Given the description of an element on the screen output the (x, y) to click on. 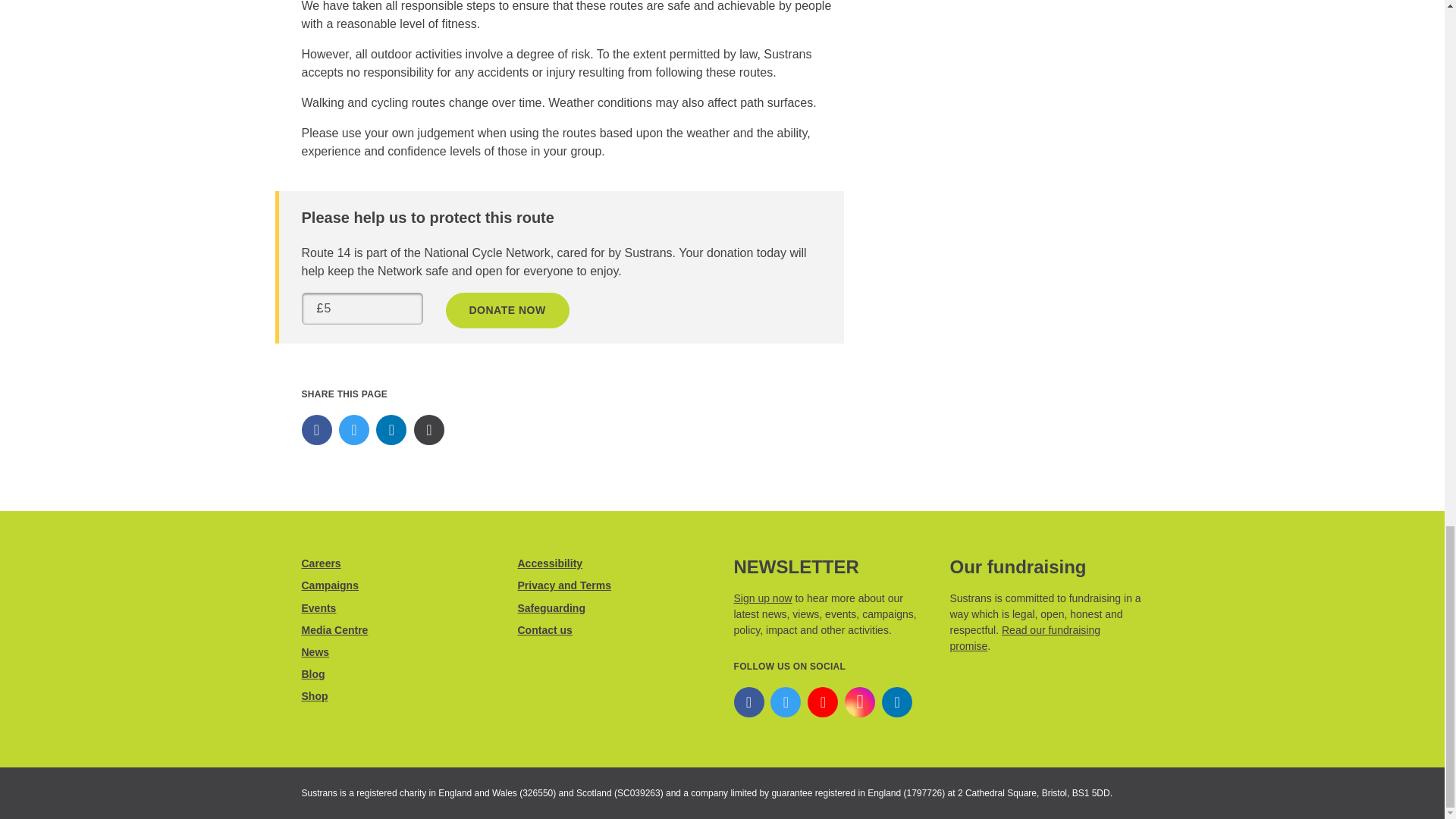
5 (362, 308)
Sign up to our newsletter (762, 598)
Fundraising (1024, 637)
